Given the description of an element on the screen output the (x, y) to click on. 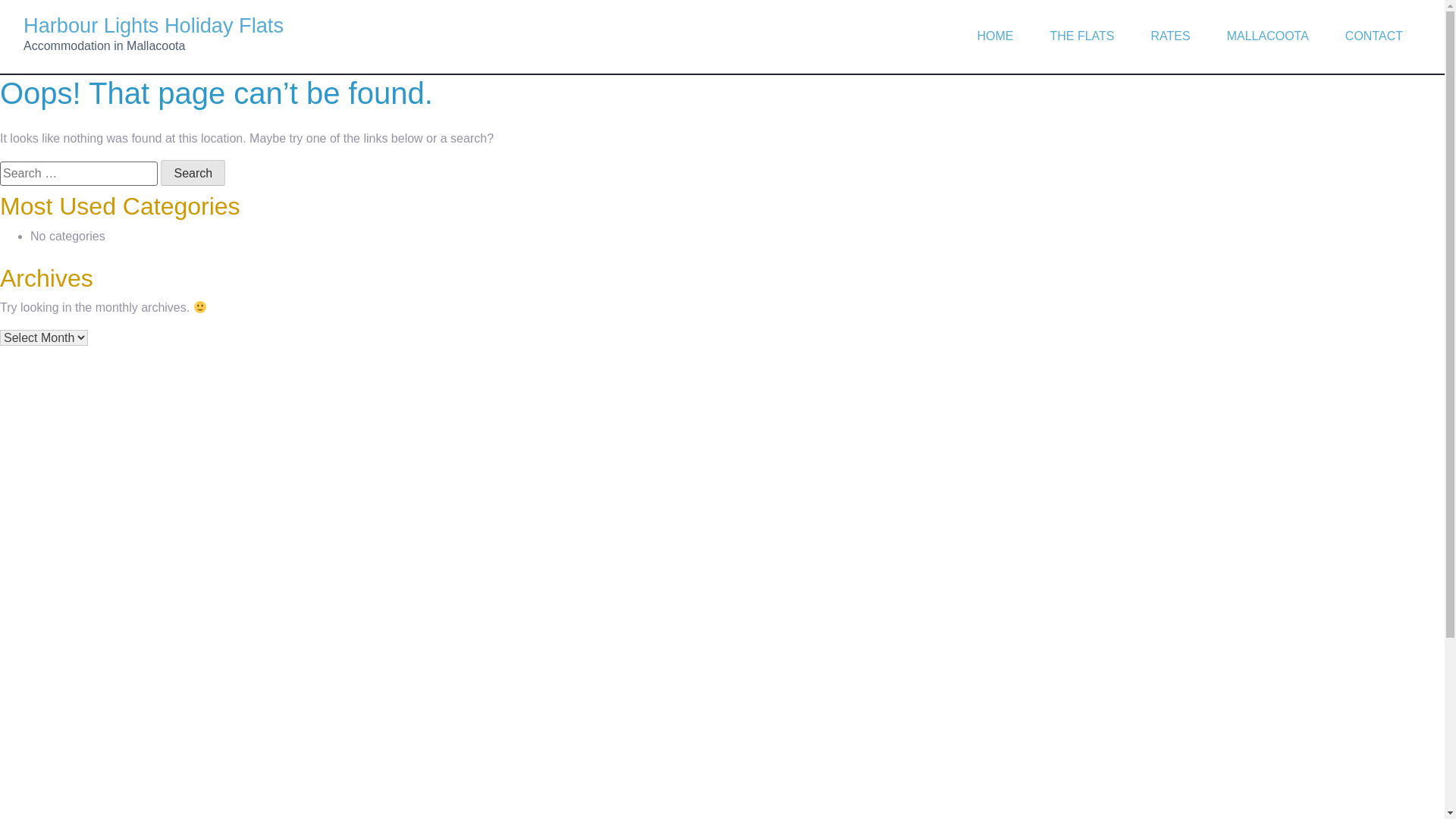
HOME Element type: text (994, 36)
RATES Element type: text (1170, 36)
MALLACOOTA Element type: text (1267, 36)
Harbour Lights Holiday Flats Element type: text (153, 25)
CONTACT Element type: text (1374, 36)
Search Element type: text (192, 172)
THE FLATS Element type: text (1081, 36)
